Given the description of an element on the screen output the (x, y) to click on. 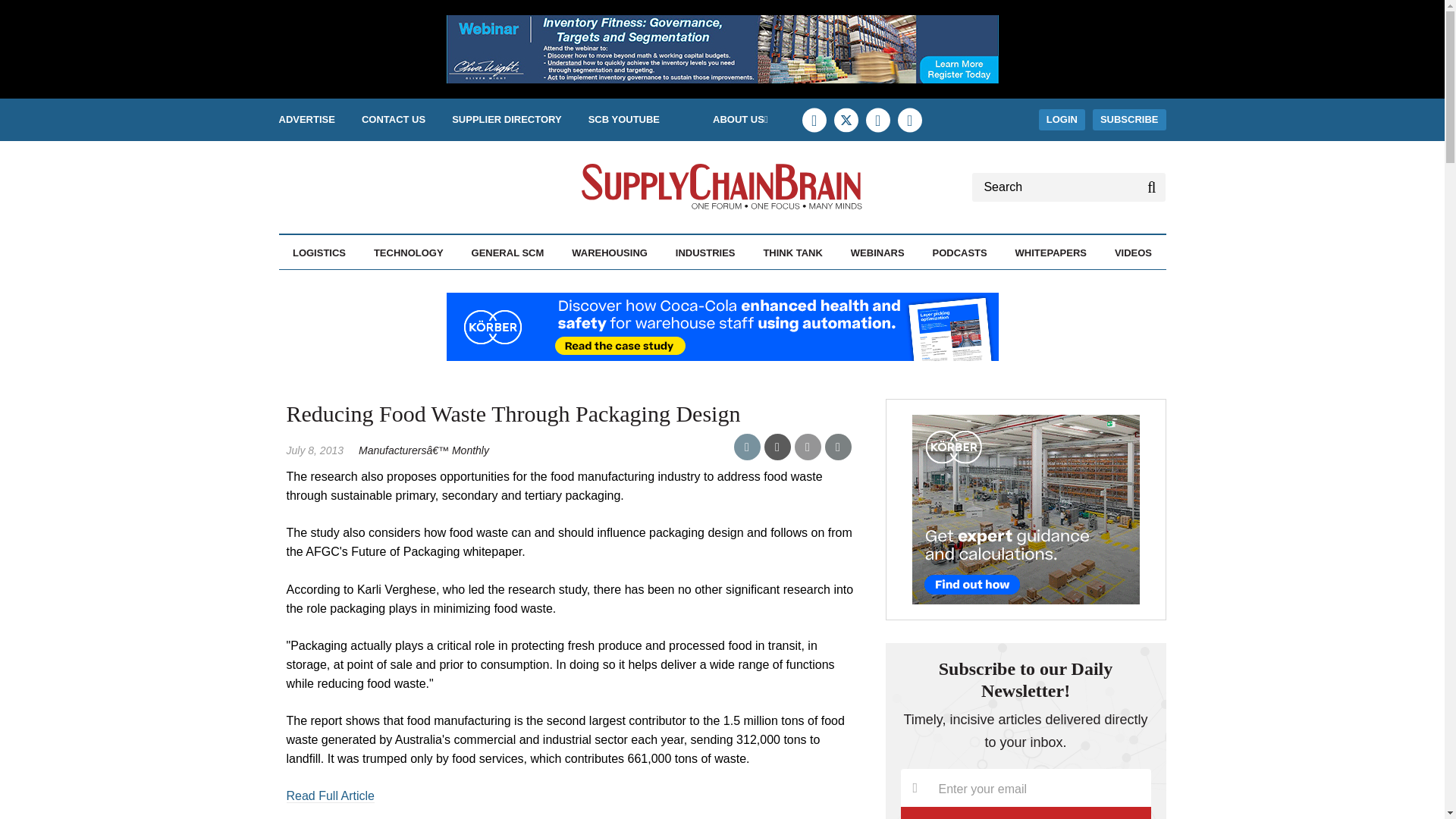
Oliver Wight  - WEBINAR (721, 49)
Subscribe (1026, 812)
